Given the description of an element on the screen output the (x, y) to click on. 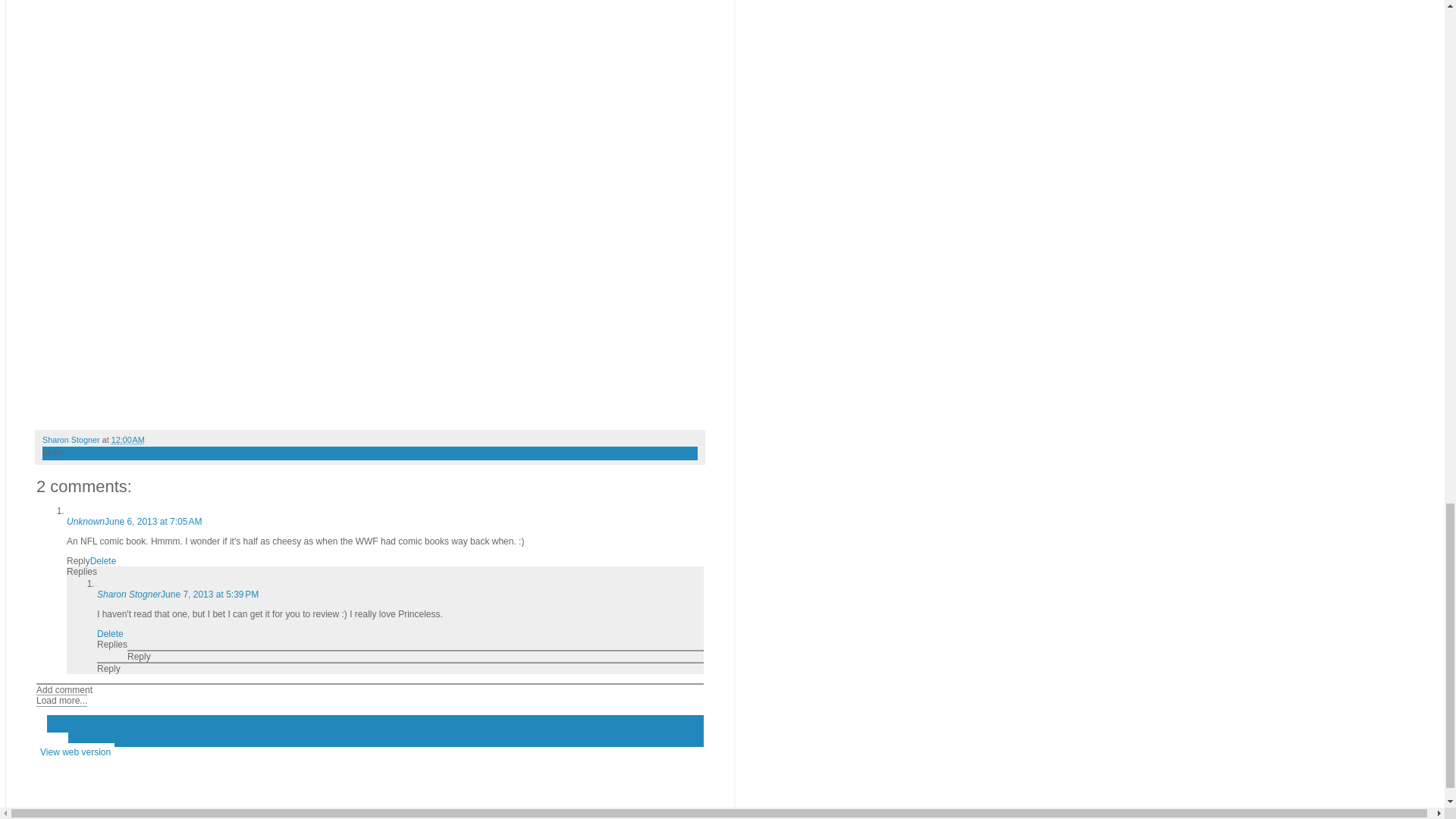
Add comment (64, 689)
Reply (78, 561)
Home (52, 741)
View web version (75, 751)
Unknown (85, 521)
permanent link (128, 439)
Blogger (393, 811)
Sharon Stogner (128, 593)
Replies (81, 571)
Share (53, 452)
Load more... (61, 700)
Sharon Stogner (71, 439)
